Given the description of an element on the screen output the (x, y) to click on. 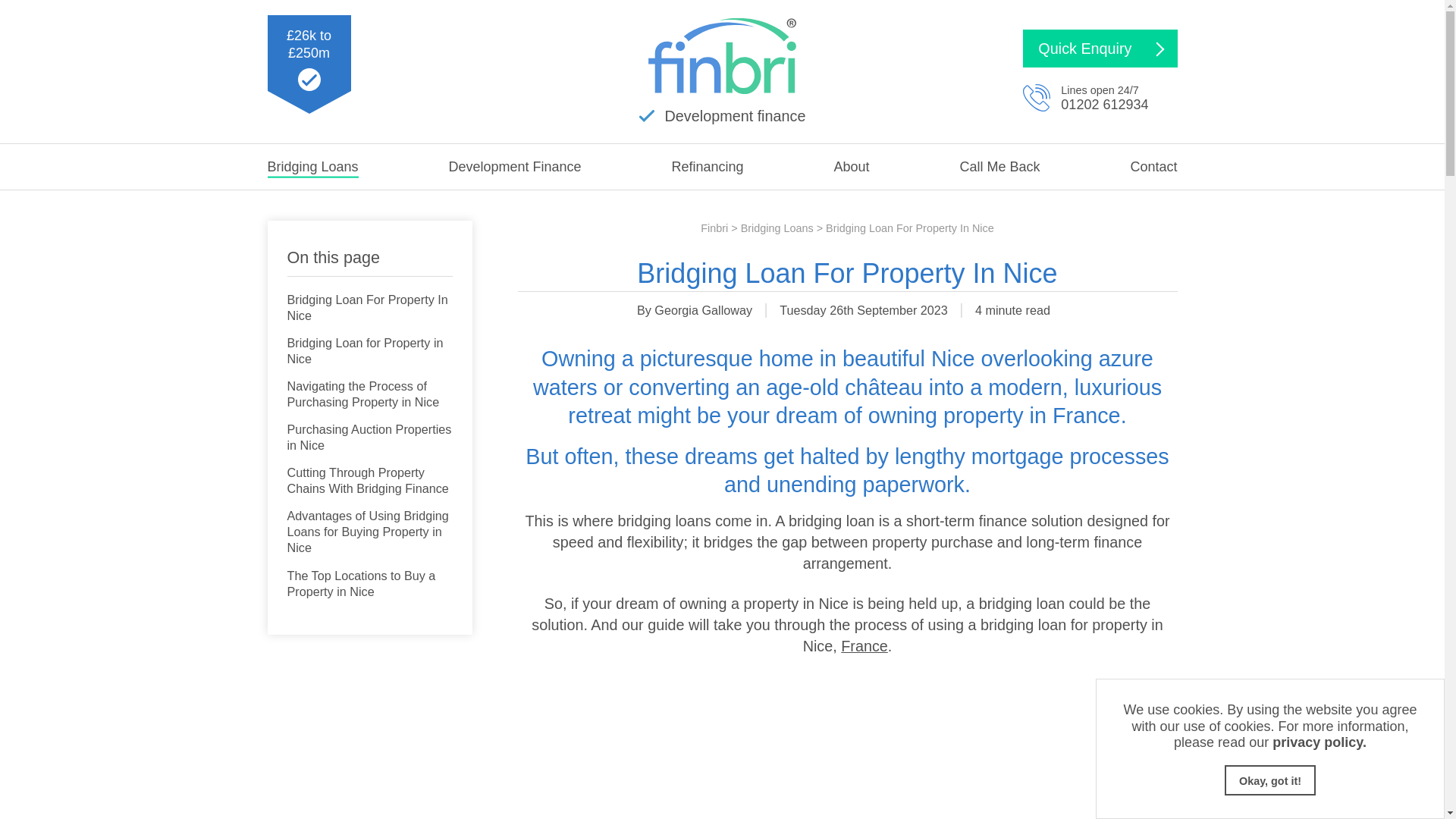
01202 612934 (1104, 104)
Bridging Loan for Property in Nice (368, 351)
Finbri (714, 227)
The Top Locations to Buy a Property in Nice (368, 583)
Finbri Limited (721, 56)
Cutting Through Property Chains With Bridging Finance (368, 481)
Bridging Loans (777, 227)
Bridging Loan For Property In Nice (368, 308)
Bridging Loans (312, 167)
